Given the description of an element on the screen output the (x, y) to click on. 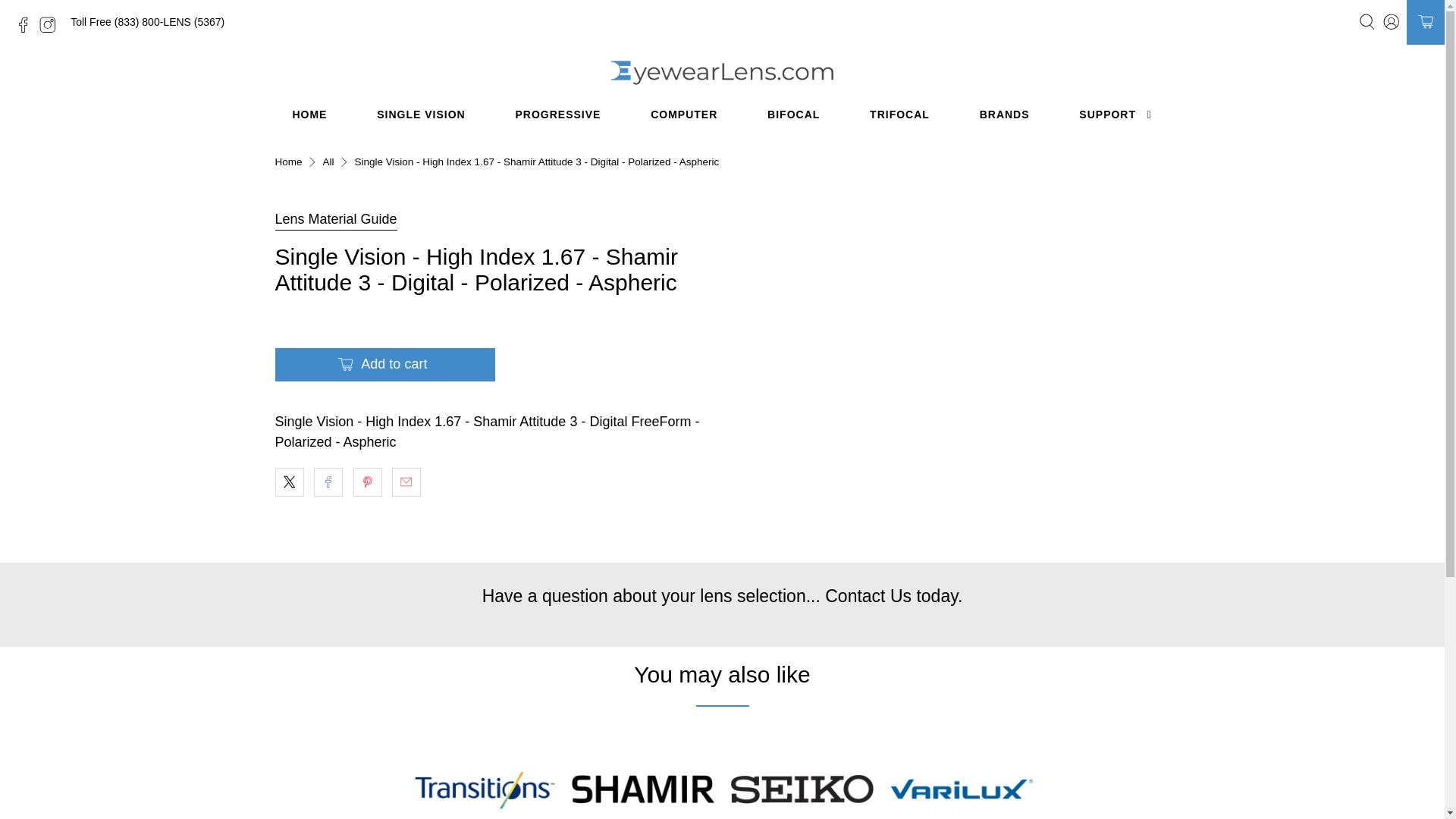
Share this on Pinterest (367, 481)
Share this on Facebook (328, 481)
Contact Us (868, 596)
TRIFOCAL (900, 114)
EyewearLens.com (288, 162)
EyewearLens.com on Instagram (51, 29)
Share this on X (288, 481)
PROGRESSIVE (558, 114)
EyewearLens.com on Facebook (26, 29)
COMPUTER (684, 114)
